Given the description of an element on the screen output the (x, y) to click on. 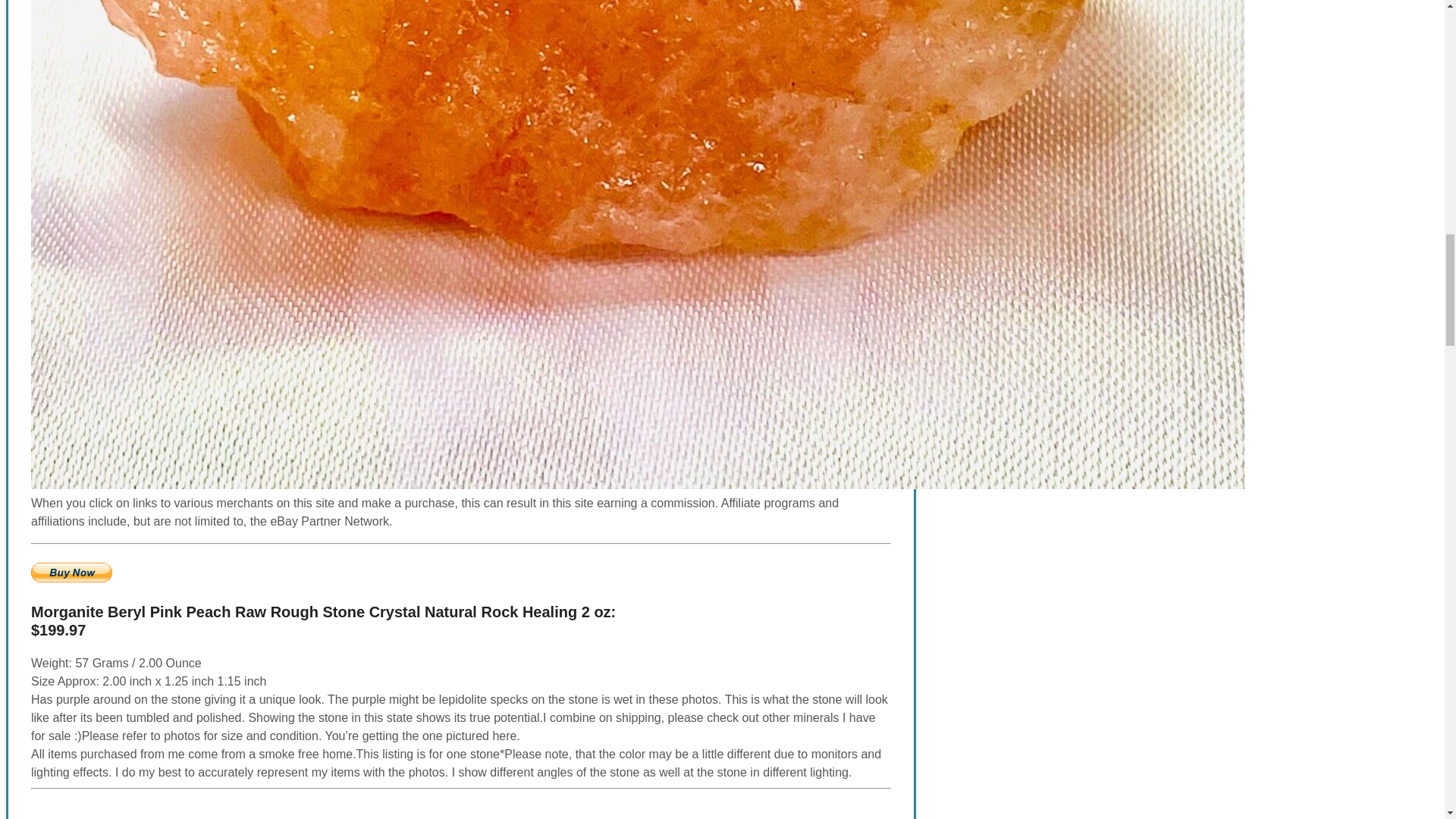
Buy Now (71, 572)
